Given the description of an element on the screen output the (x, y) to click on. 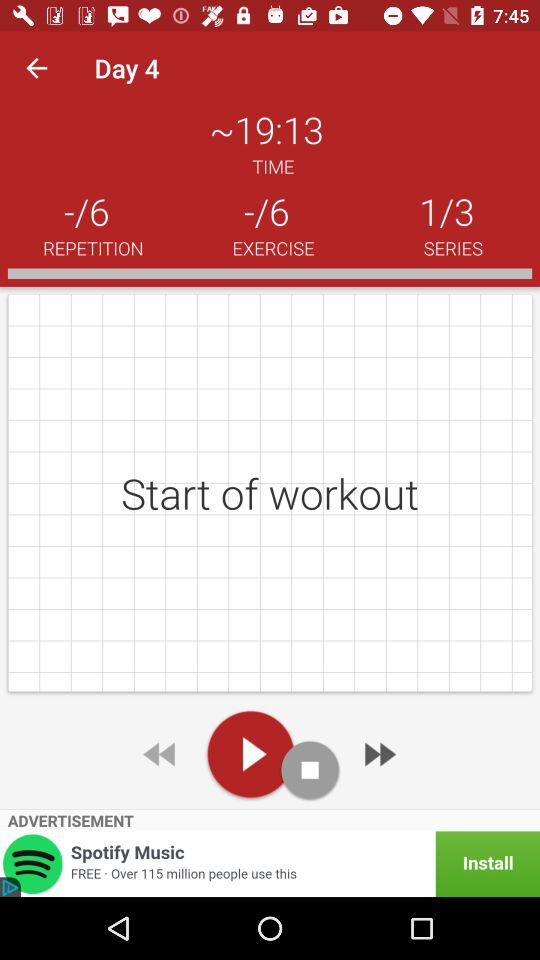
choose item to the left of day 4 (36, 68)
